Given the description of an element on the screen output the (x, y) to click on. 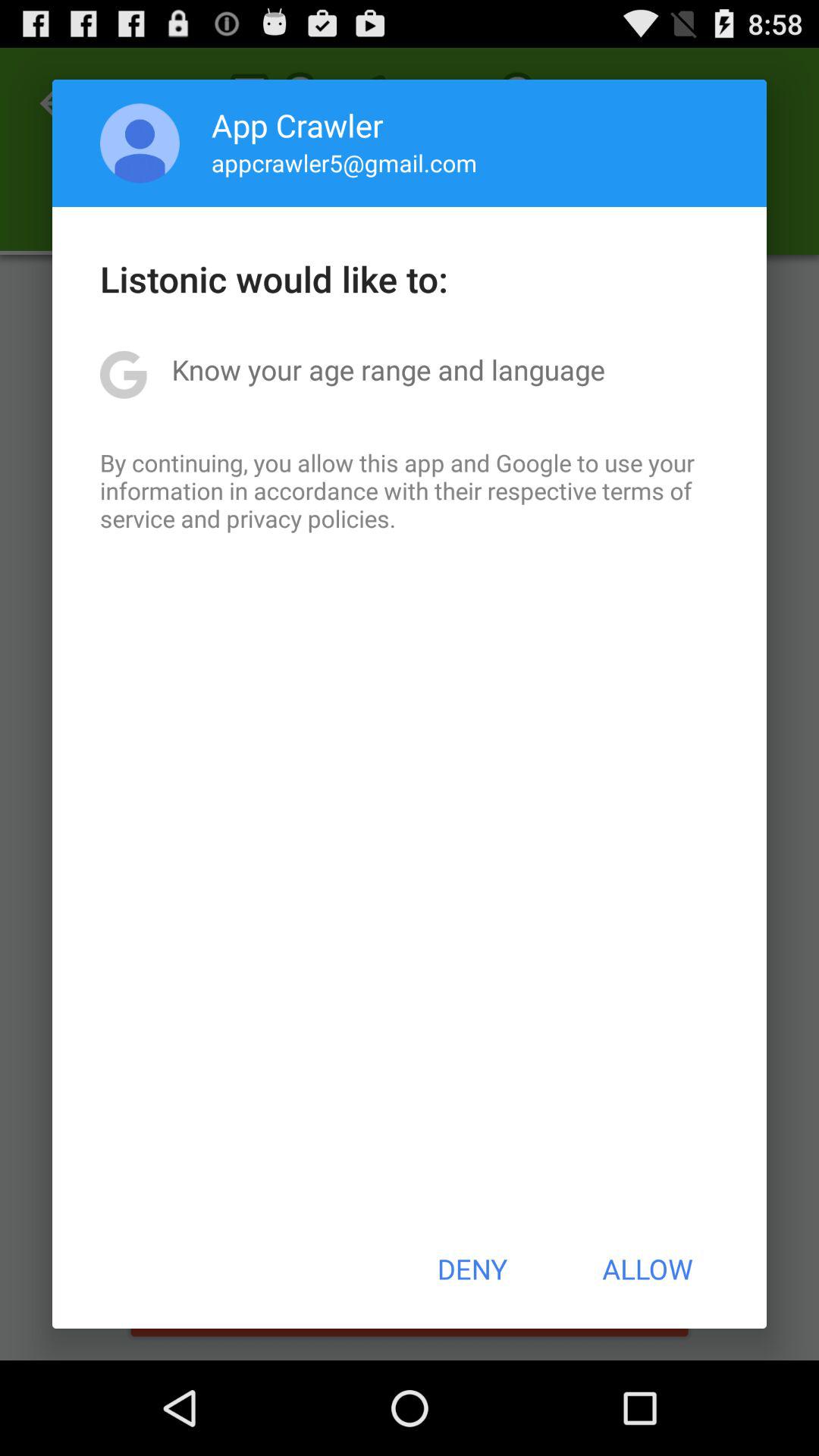
turn on the icon above listonic would like item (344, 162)
